Given the description of an element on the screen output the (x, y) to click on. 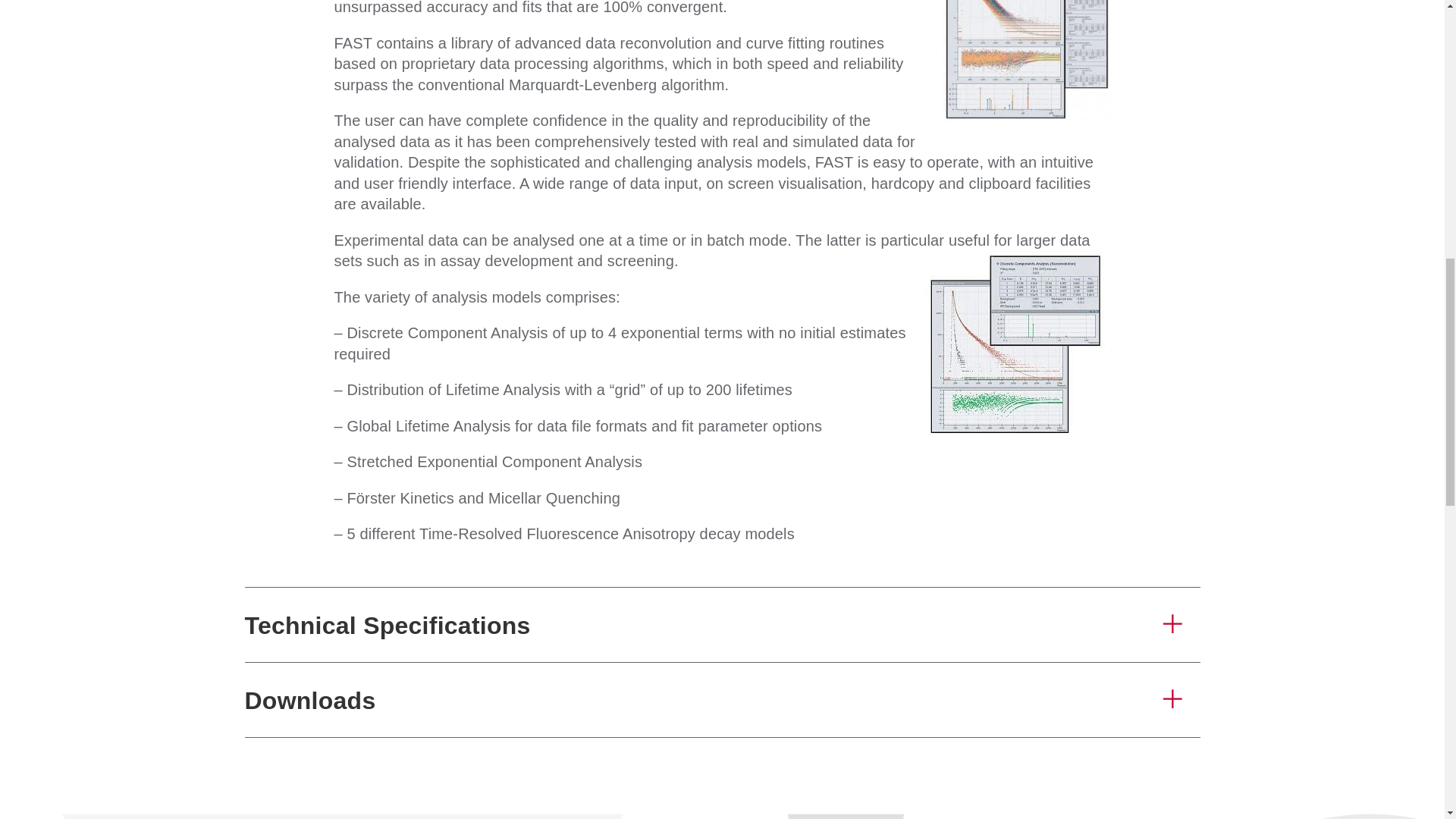
Fluorescence lifetime decay  (1026, 60)
Discrete component analysis (1015, 346)
